Given the description of an element on the screen output the (x, y) to click on. 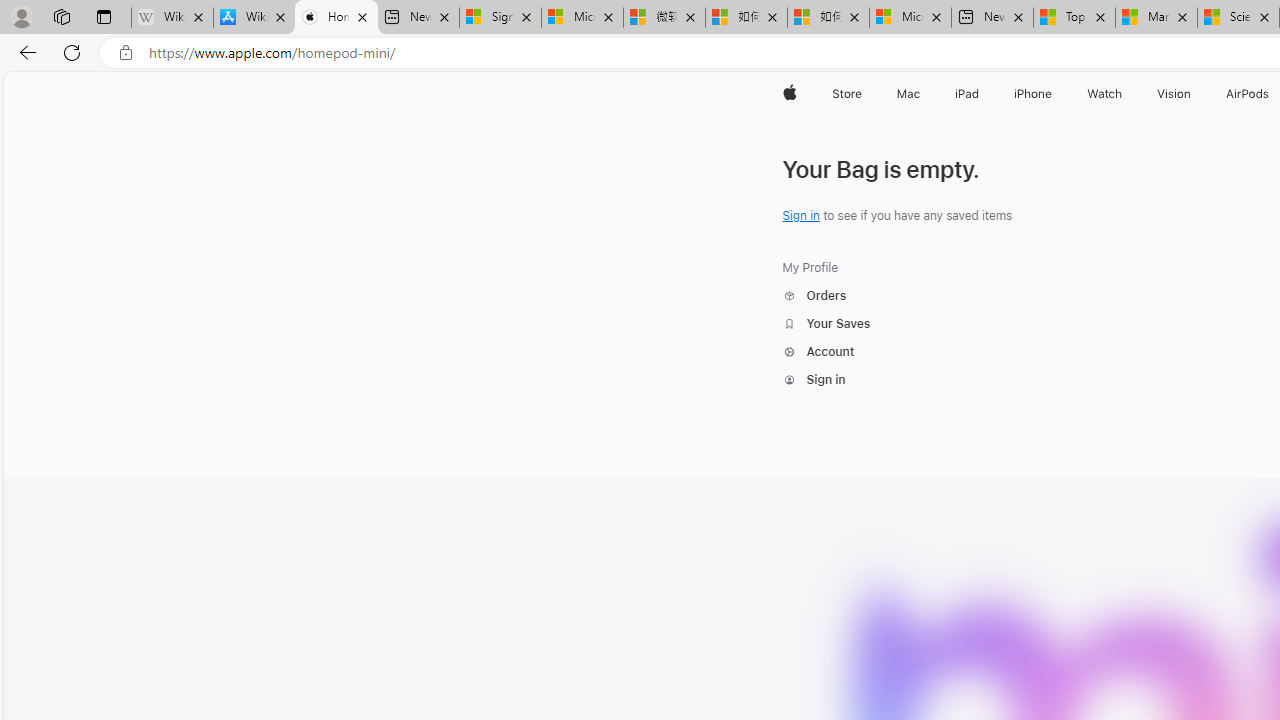
Apple (789, 93)
iPad (965, 93)
Mac (908, 93)
AutomationID: Outlined (788, 380)
iPhone (1033, 93)
Orders (814, 295)
Account (826, 351)
Watch menu (1125, 93)
iPhone menu (1055, 93)
